Given the description of an element on the screen output the (x, y) to click on. 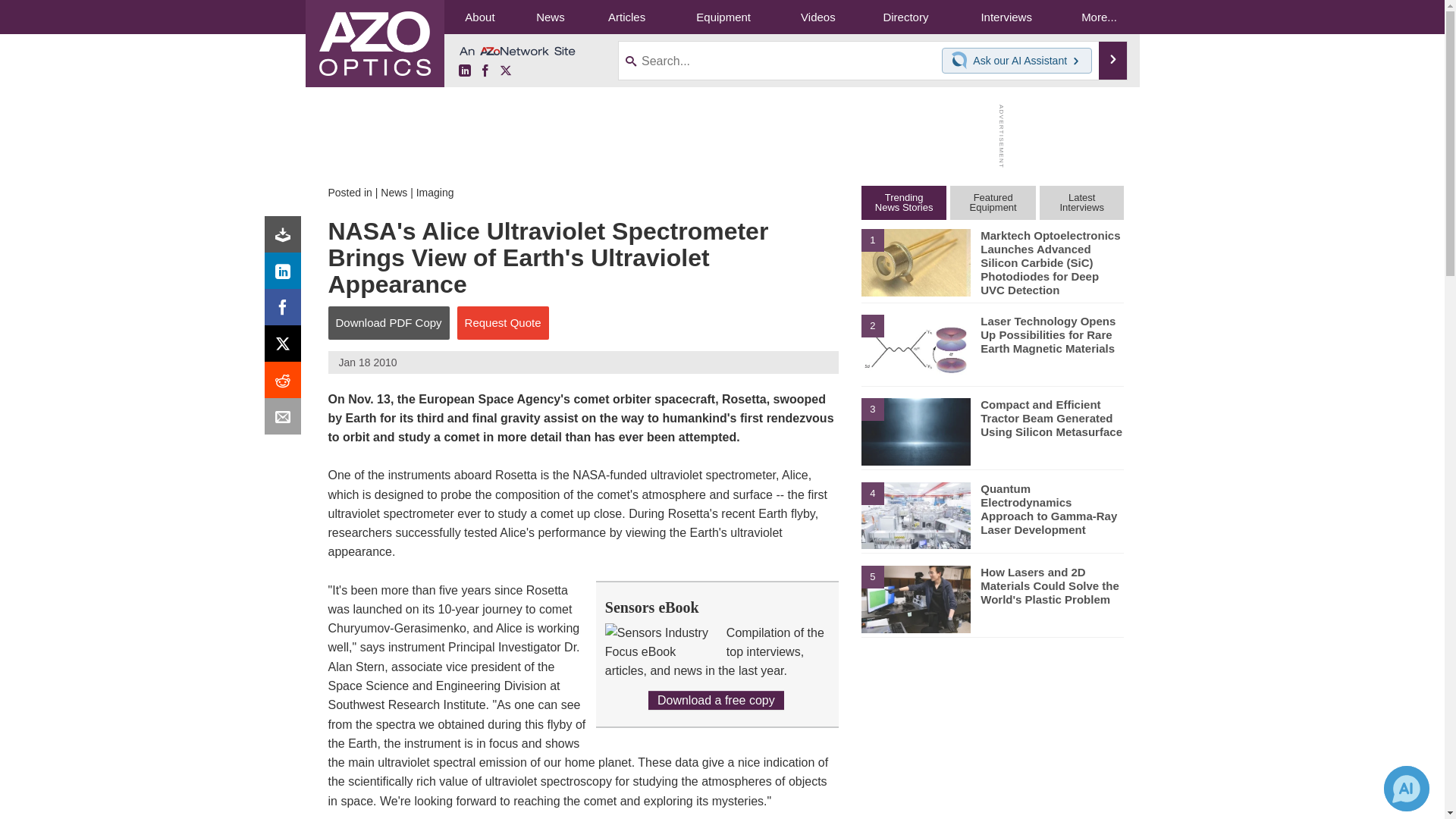
LinkedIn (285, 275)
Imaging (435, 192)
Interviews (1006, 17)
X (505, 71)
Facebook (485, 71)
Email (285, 420)
Reddit (285, 384)
Directory (905, 17)
More... (1098, 17)
X (285, 348)
LinkedIn (464, 71)
About (479, 17)
Equipment (723, 17)
Chat with our AI Assistant Ask our AI Assistant (1017, 60)
